Given the description of an element on the screen output the (x, y) to click on. 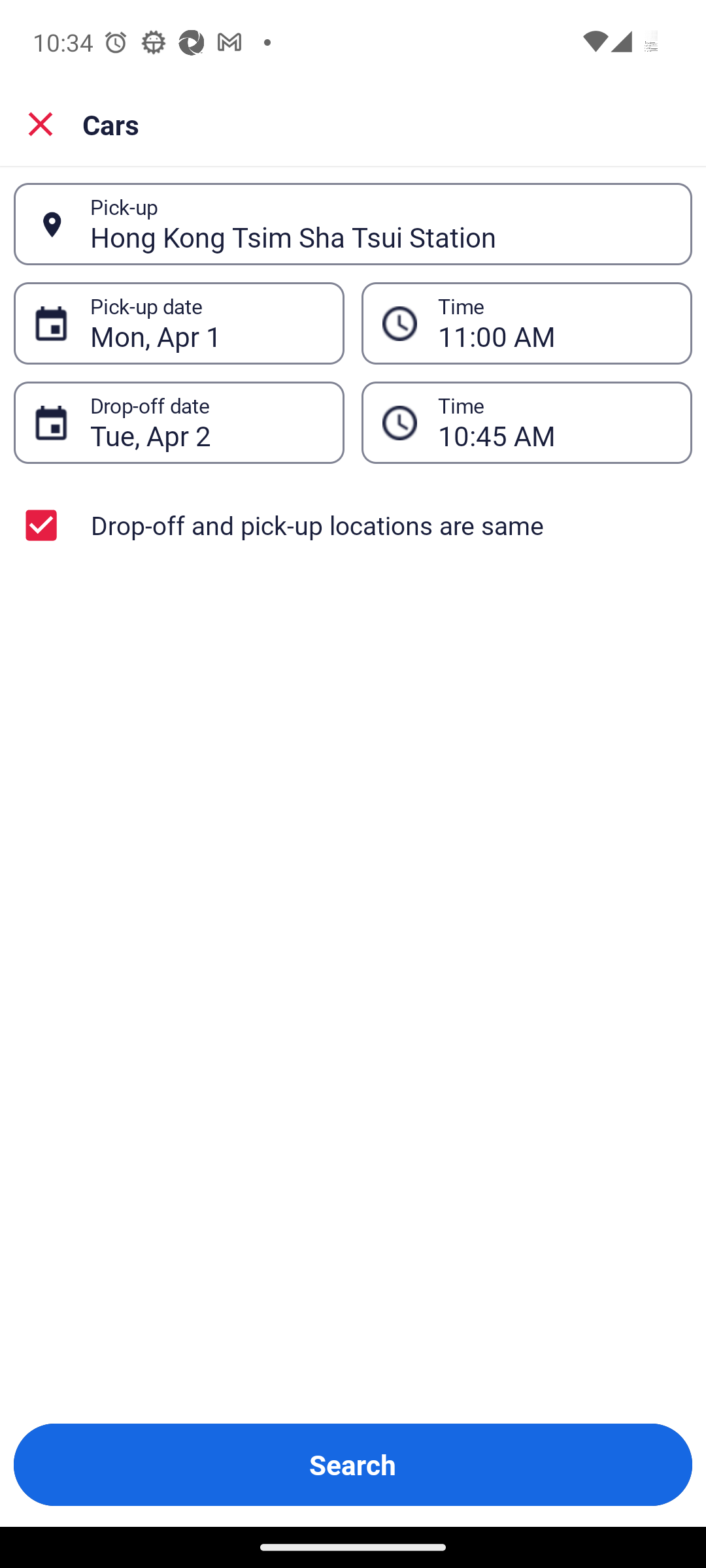
Close search screen (41, 124)
Hong Kong Tsim Sha Tsui Station (380, 223)
Mon, Apr 1 (206, 322)
11:00 AM (554, 322)
Tue, Apr 2 (206, 423)
10:45 AM (554, 423)
Drop-off and pick-up locations are same (352, 525)
Search Button Search (352, 1464)
